Given the description of an element on the screen output the (x, y) to click on. 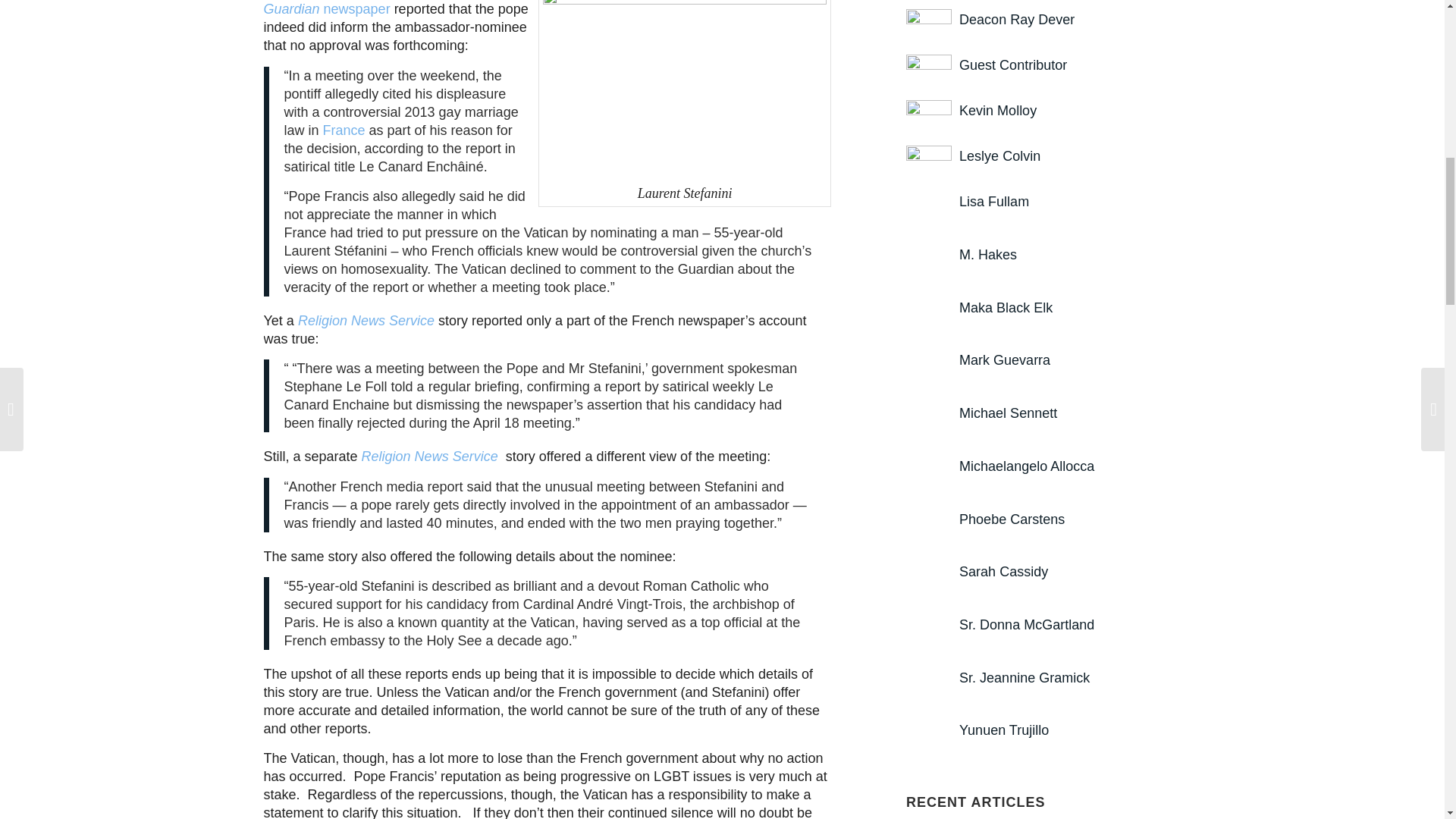
The Guardian newspaper (371, 8)
France (344, 130)
Religion News Service  (431, 456)
Religion News Service (365, 320)
